Given the description of an element on the screen output the (x, y) to click on. 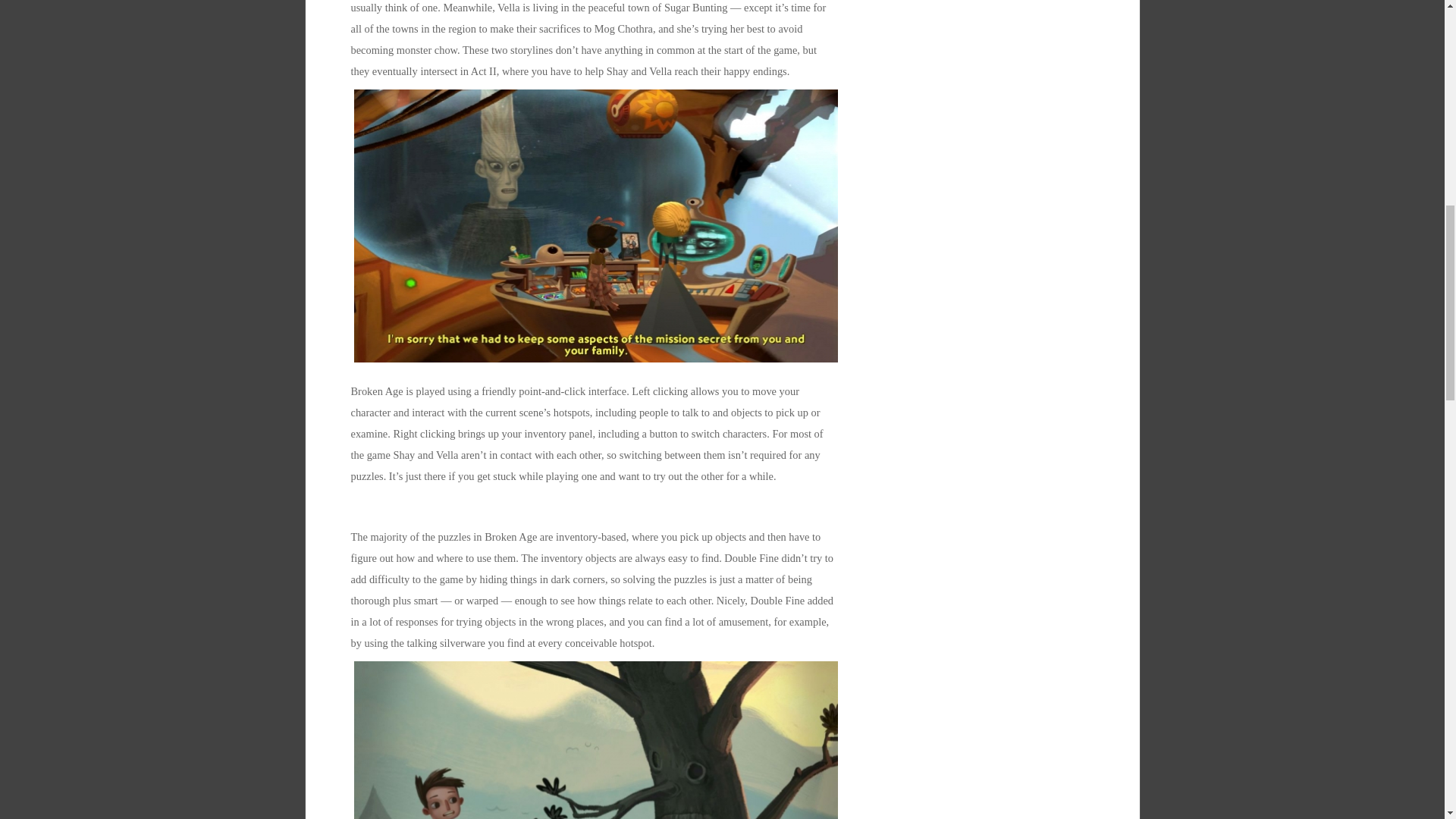
screenshot-08.jpg (595, 738)
